Given the description of an element on the screen output the (x, y) to click on. 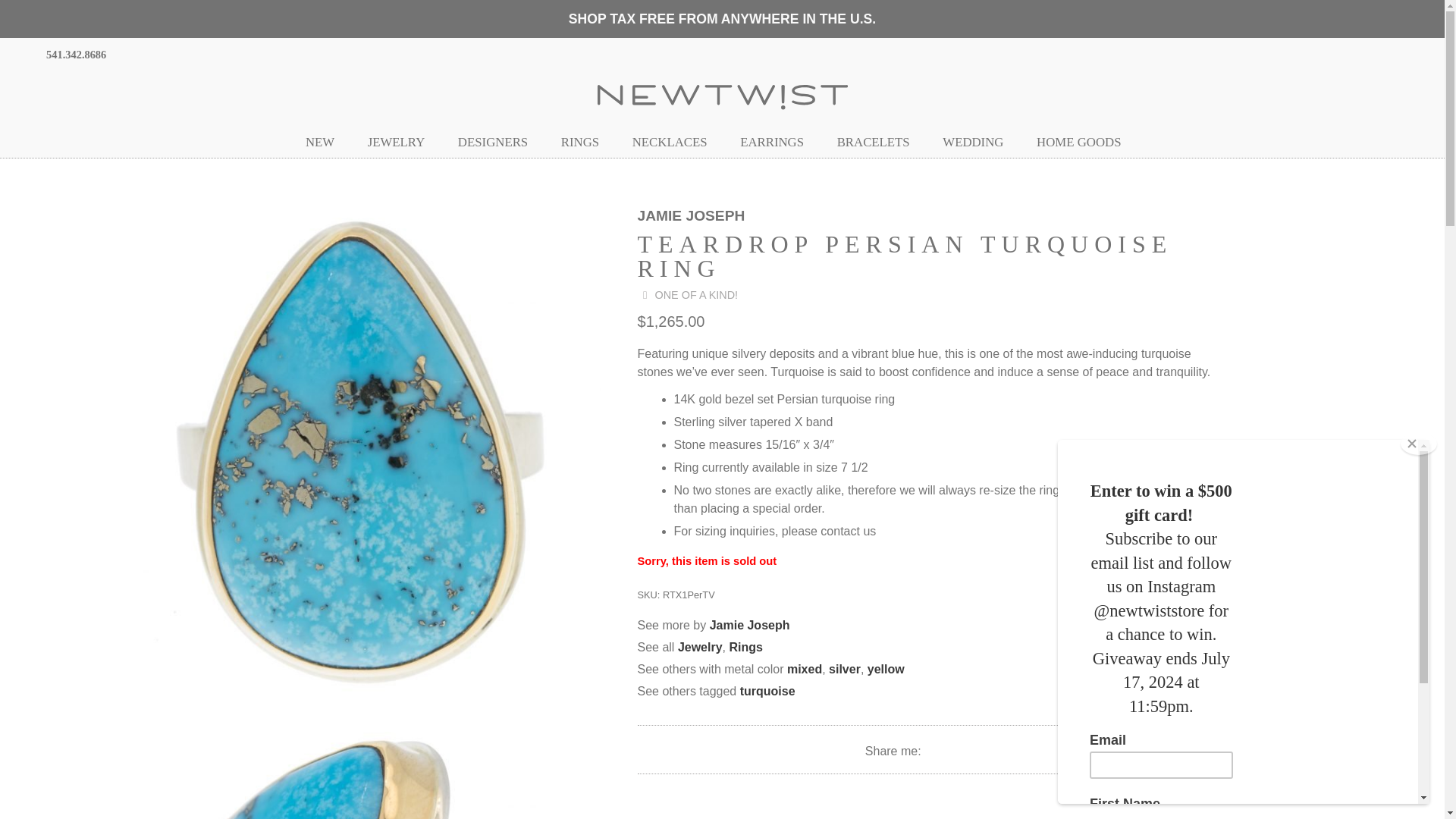
JEWELRY (404, 142)
541.342.8686 (73, 53)
DESIGNERS (501, 142)
NEW (328, 142)
RTX1PERTV-2 (357, 764)
